Given the description of an element on the screen output the (x, y) to click on. 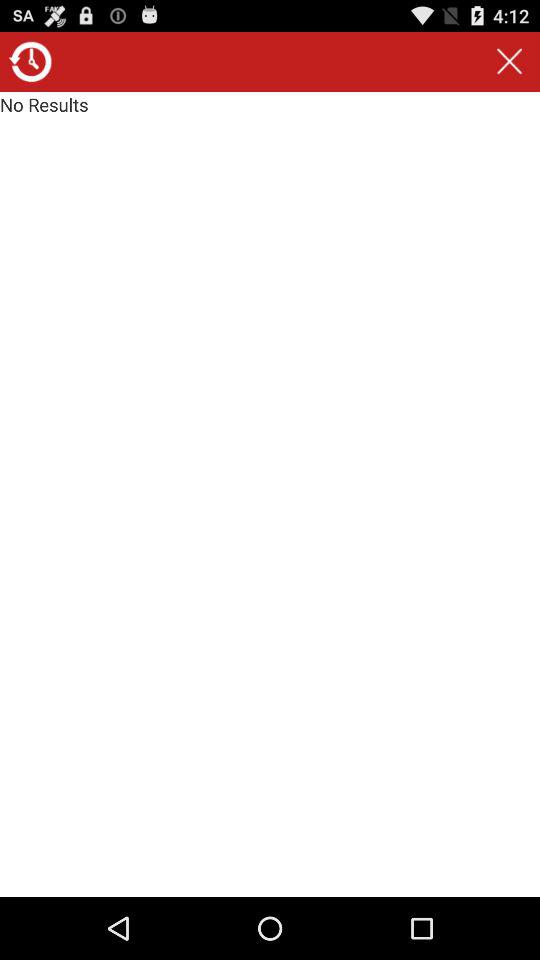
select the button at the top right corner (509, 61)
